Given the description of an element on the screen output the (x, y) to click on. 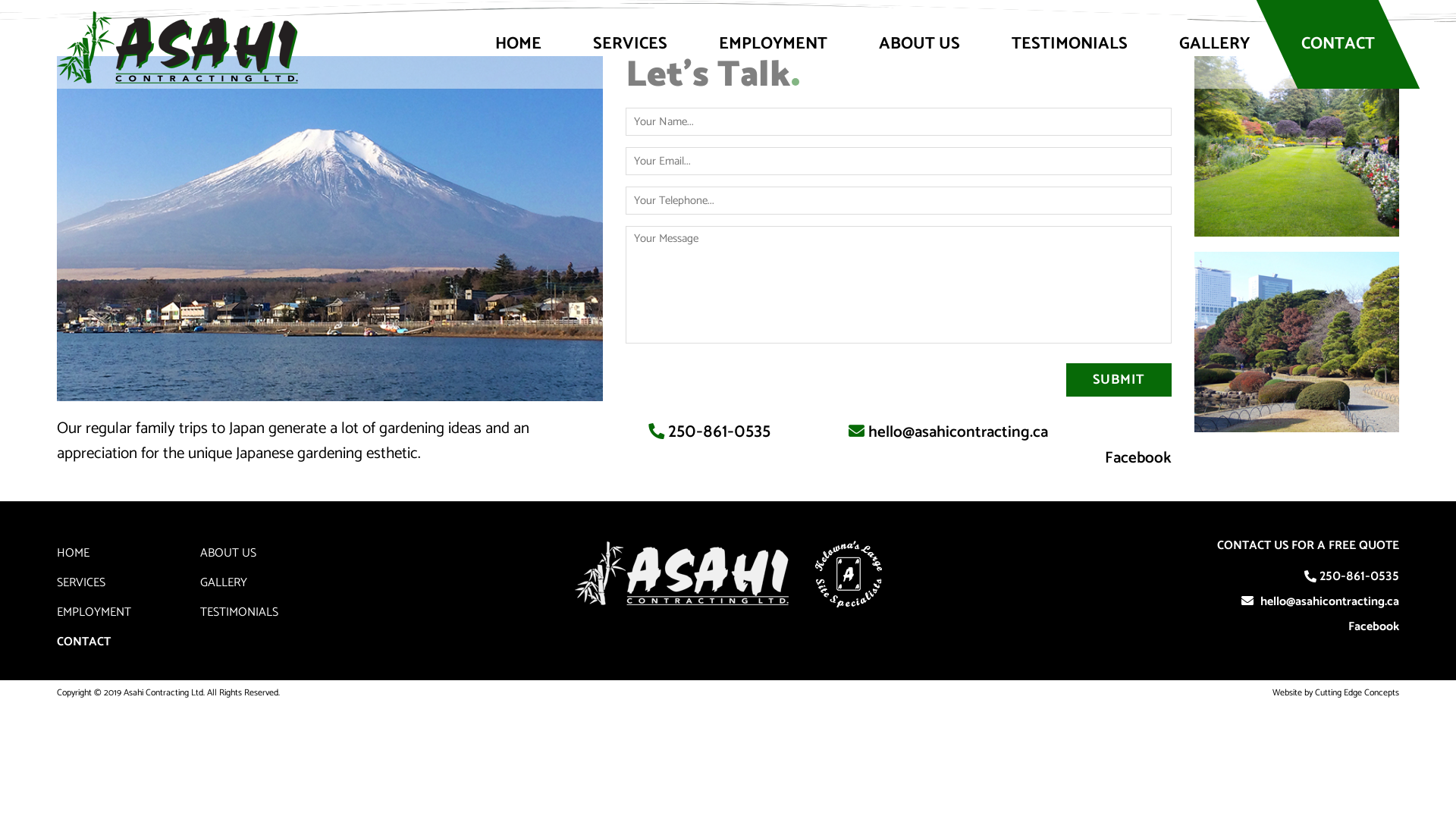
HOME Element type: text (517, 44)
GALLERY Element type: text (223, 582)
ABOUT US Element type: text (228, 552)
Cutting Edge Concepts Element type: text (1356, 692)
TESTIMONIALS Element type: text (239, 612)
Facebook Element type: text (1370, 626)
ABOUT US Element type: text (919, 44)
EMPLOYMENT Element type: text (772, 44)
hello@asahicontracting.ca Element type: text (1329, 601)
GALLERY Element type: text (1214, 44)
EMPLOYMENT Element type: text (93, 612)
Facebook Element type: text (1137, 457)
SERVICES Element type: text (80, 582)
TESTIMONIALS Element type: text (1069, 44)
SERVICES Element type: text (629, 44)
hello@asahicontracting.ca Element type: text (958, 432)
CONTACT Element type: text (1338, 44)
250-861-0535 Element type: text (719, 430)
Submit Element type: text (1118, 379)
CONTACT Element type: text (83, 641)
HOME Element type: text (72, 552)
